Given the description of an element on the screen output the (x, y) to click on. 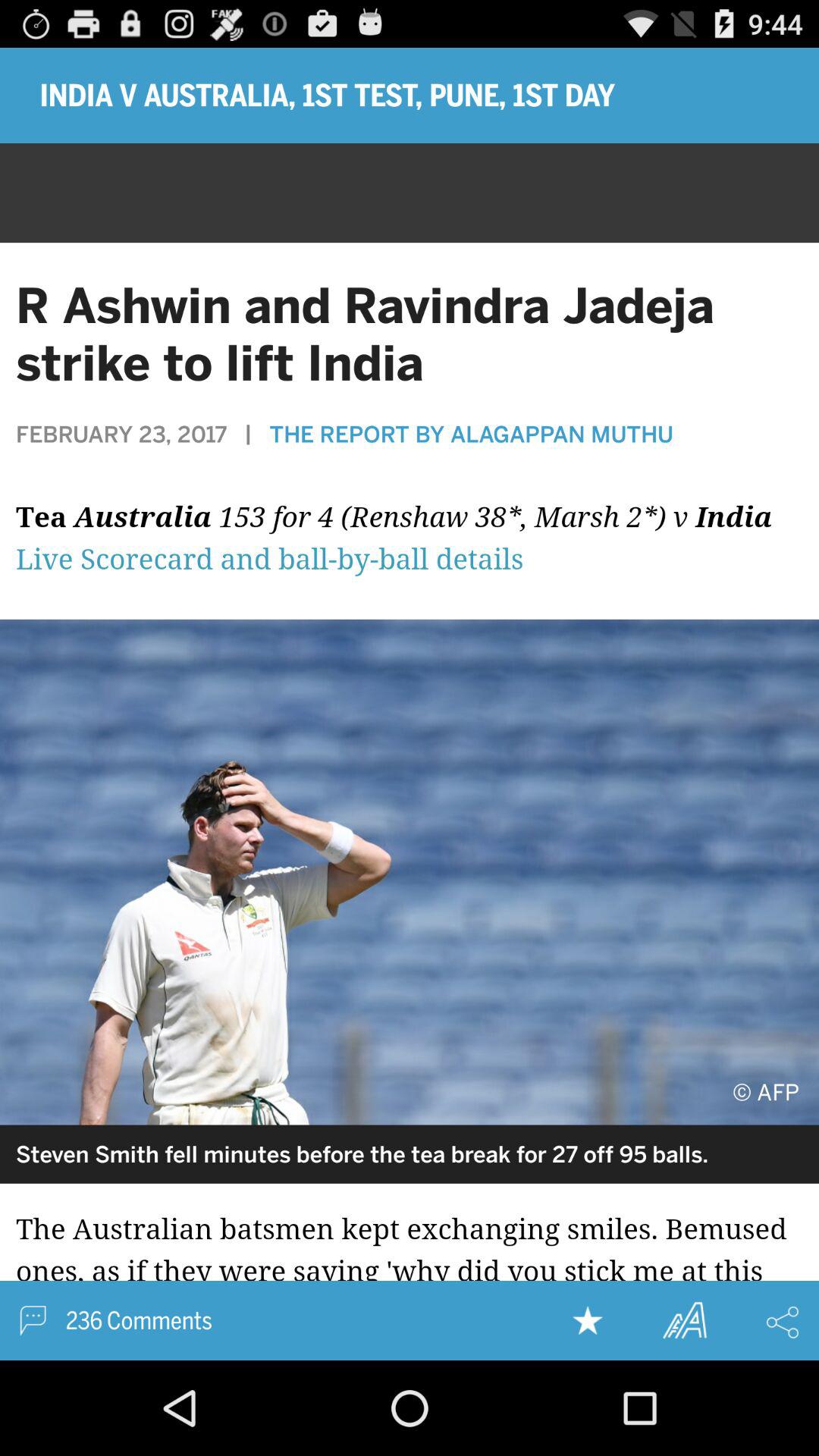
adjust font size (684, 1319)
